Given the description of an element on the screen output the (x, y) to click on. 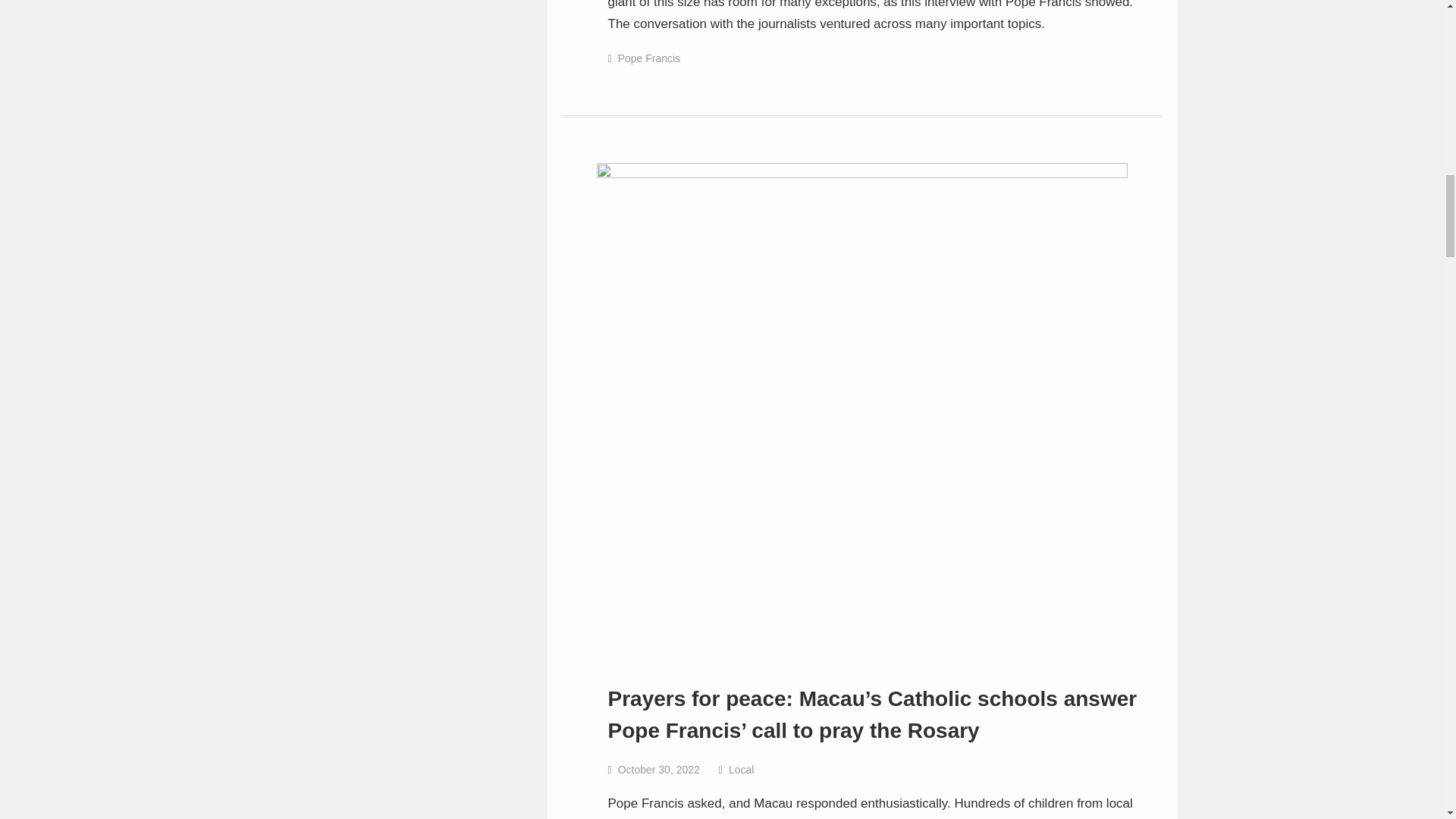
Pope Francis (648, 58)
October 30, 2022 (658, 769)
Local (741, 769)
